Given the description of an element on the screen output the (x, y) to click on. 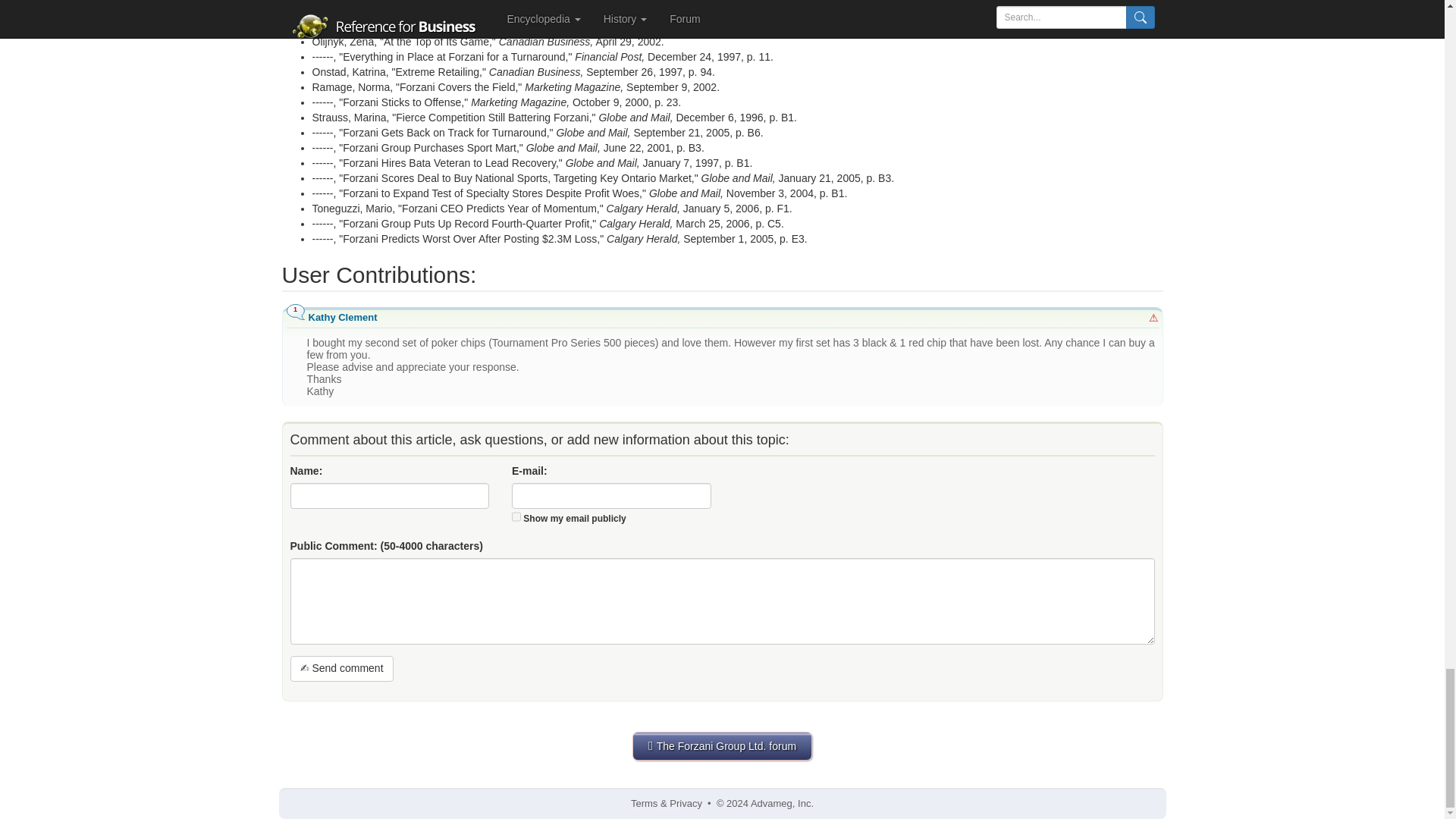
The Forzani Group Ltd. forum (721, 746)
1 (516, 516)
